Given the description of an element on the screen output the (x, y) to click on. 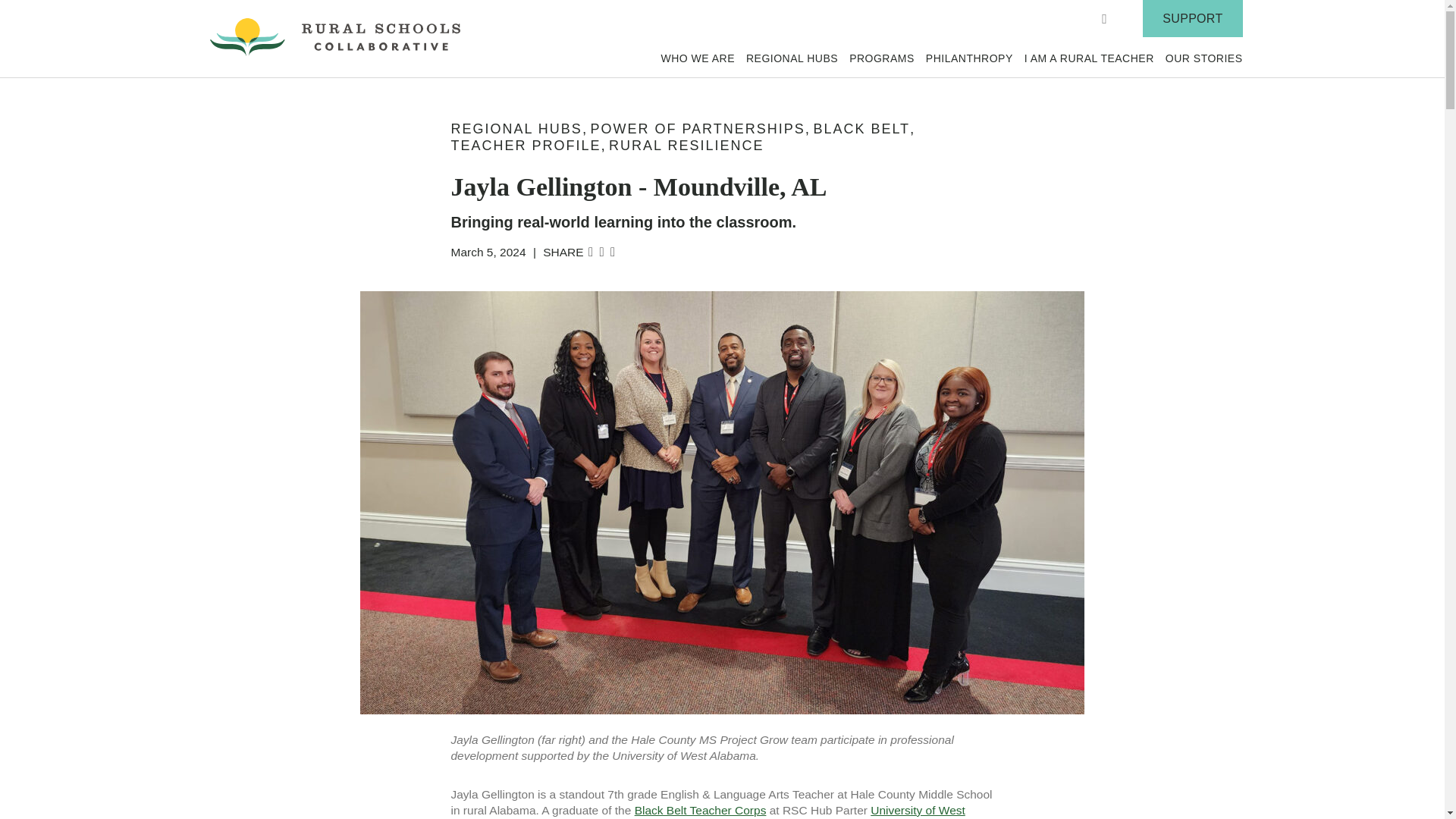
PHILANTHROPY (969, 58)
RURAL RESILIENCE (685, 145)
SUPPORT (1191, 18)
PROGRAMS (881, 58)
BLACK BELT (861, 128)
REGIONAL HUBS (514, 128)
I AM A RURAL TEACHER (1089, 58)
OUR STORIES (1204, 58)
POWER OF PARTNERSHIPS (697, 128)
WHO WE ARE (698, 58)
REGIONAL HUBS (791, 58)
TEACHER PROFILE (524, 145)
